Given the description of an element on the screen output the (x, y) to click on. 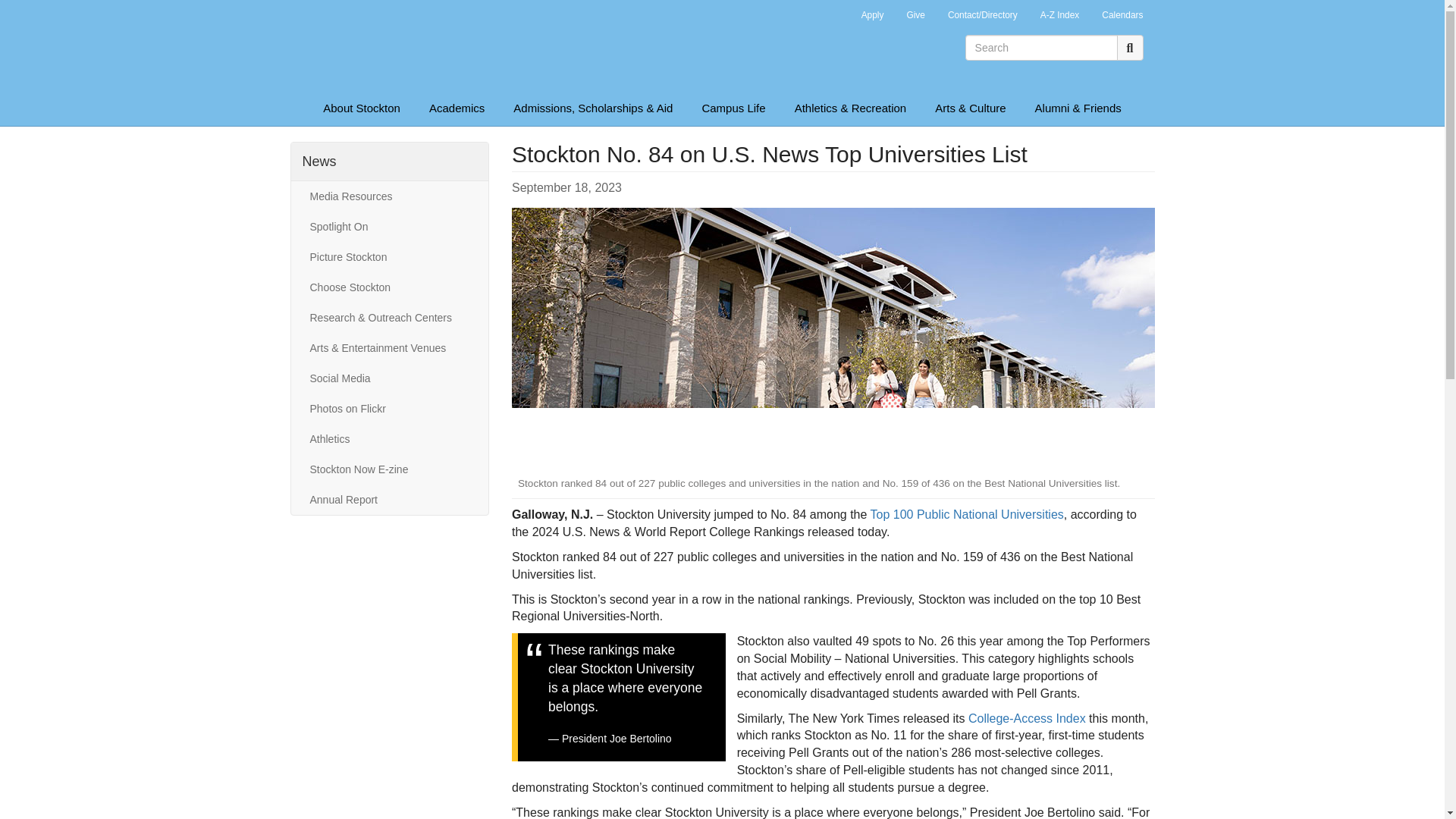
Give (915, 17)
A-Z Index (1059, 17)
Stockton University (400, 45)
Calendars (1122, 17)
Social Media (389, 378)
Stockton Now E-zine (389, 469)
Choose Stockton (389, 286)
Media Resources (389, 195)
Photos on Flickr (389, 408)
Go Portal (830, 11)
